Given the description of an element on the screen output the (x, y) to click on. 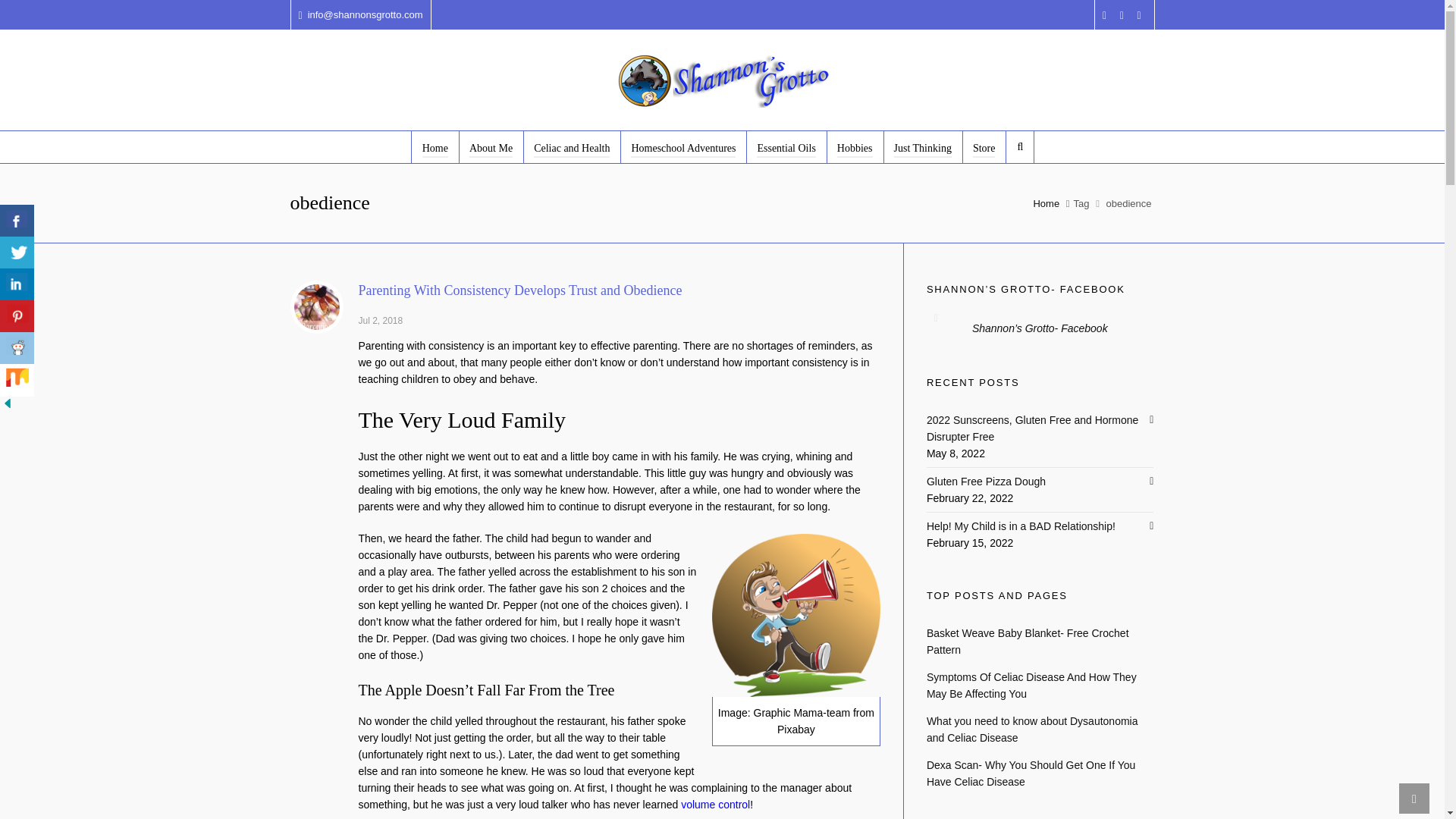
Store (984, 146)
Parenting With Consistency Develops Trust and Obedience (315, 306)
Home (435, 146)
Just Thinking (922, 146)
Parenting With Consistency Develops Trust and Obedience (519, 290)
Celiac and Health (571, 146)
Hobbies (855, 146)
Share On Facebook (16, 220)
Essential Oils (786, 146)
Homeschool Adventures (683, 146)
Share On Twitter (16, 252)
About Me (491, 146)
